Given the description of an element on the screen output the (x, y) to click on. 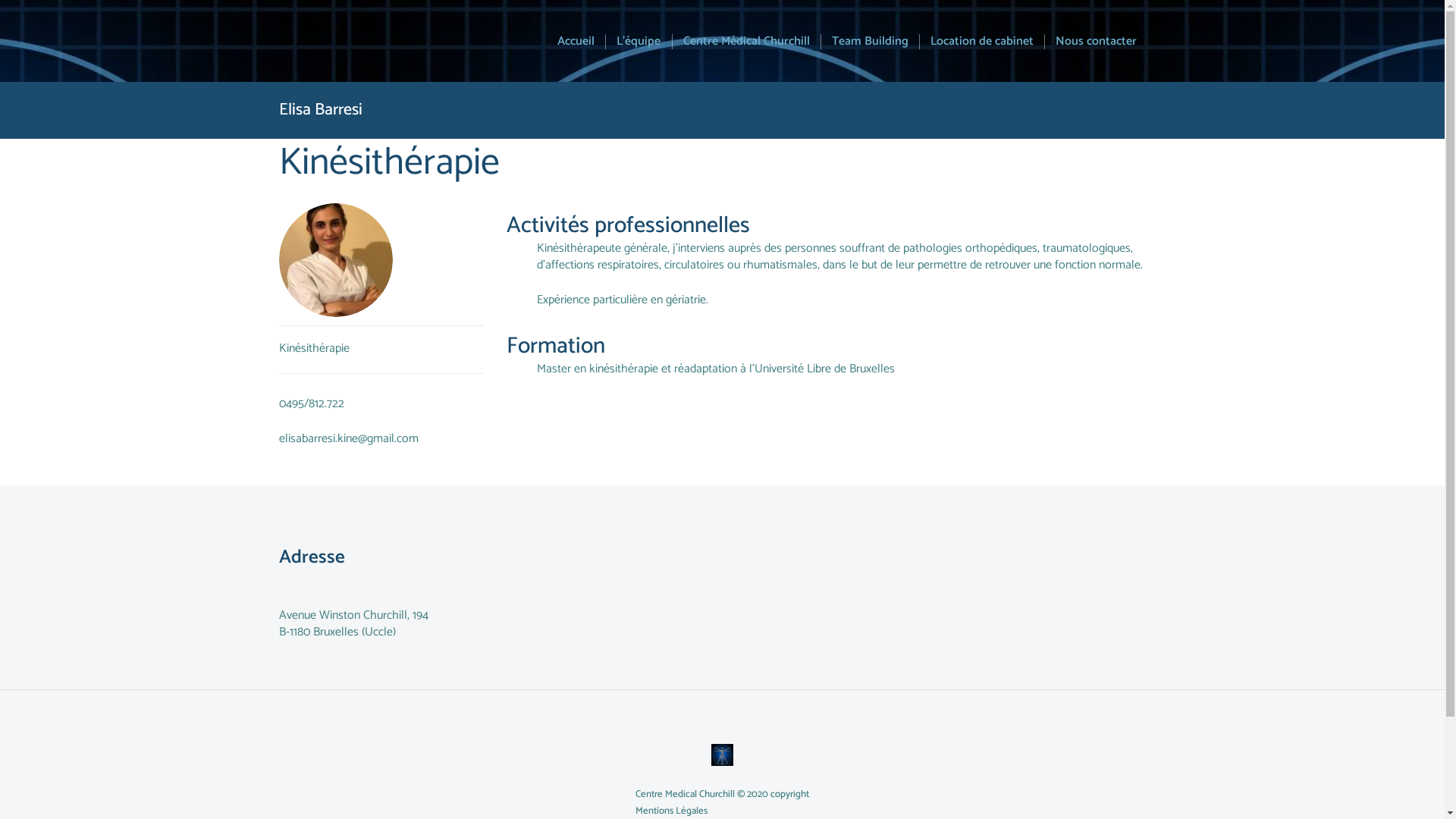
Location de cabinet Element type: text (976, 42)
elisabarresi.kine@gmail.com Element type: text (348, 438)
Team Building Element type: text (864, 42)
Nous contacter Element type: text (1090, 42)
Accueil Element type: text (575, 42)
photo elisa - kine Element type: hover (335, 259)
